Given the description of an element on the screen output the (x, y) to click on. 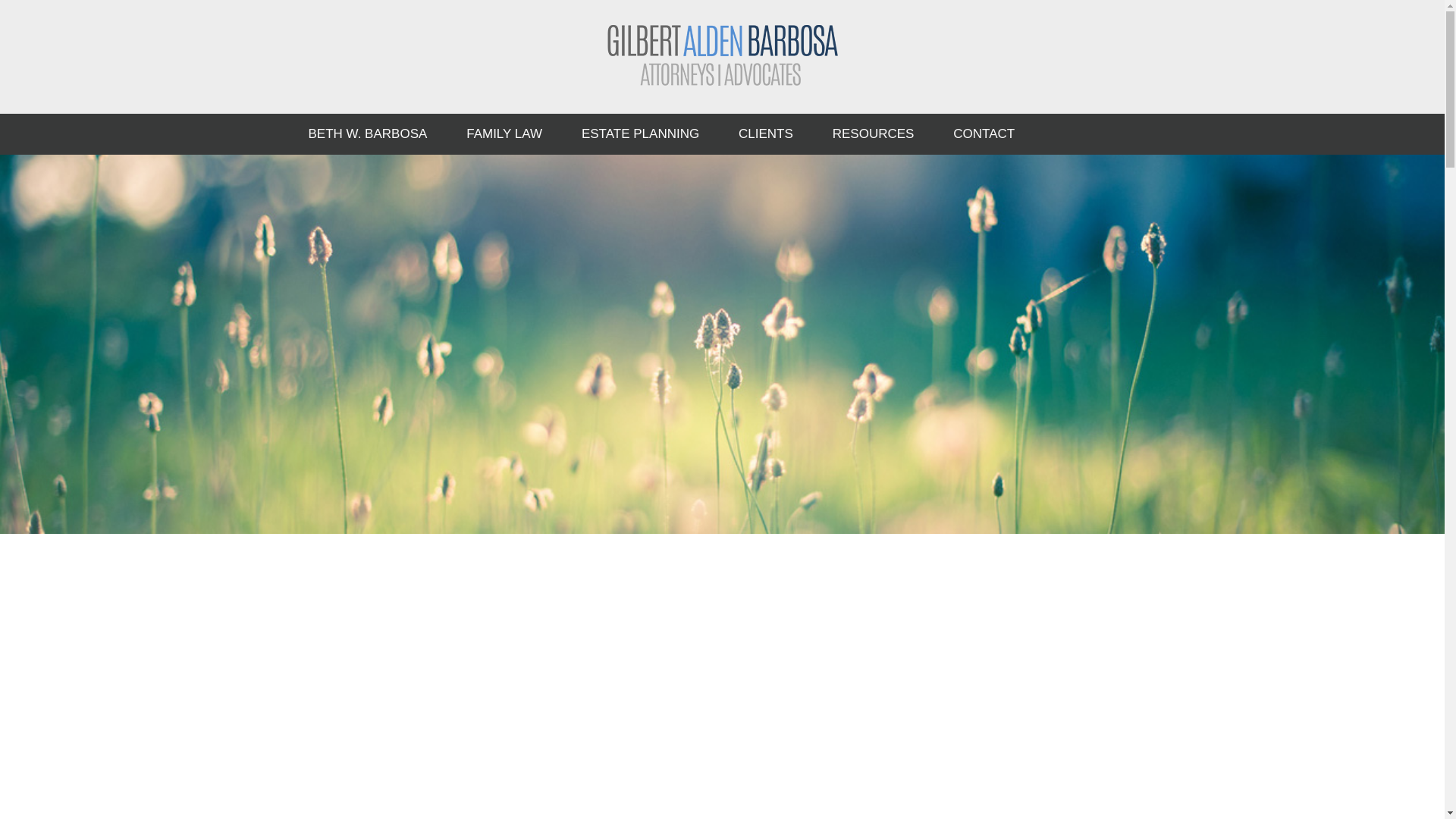
RESOURCES (873, 133)
FAMILY LAW (504, 133)
ESTATE PLANNING (640, 133)
BETH W. BARBOSA (367, 133)
CONTACT (983, 133)
CLIENTS (765, 133)
Beth Barbosa (721, 55)
